Given the description of an element on the screen output the (x, y) to click on. 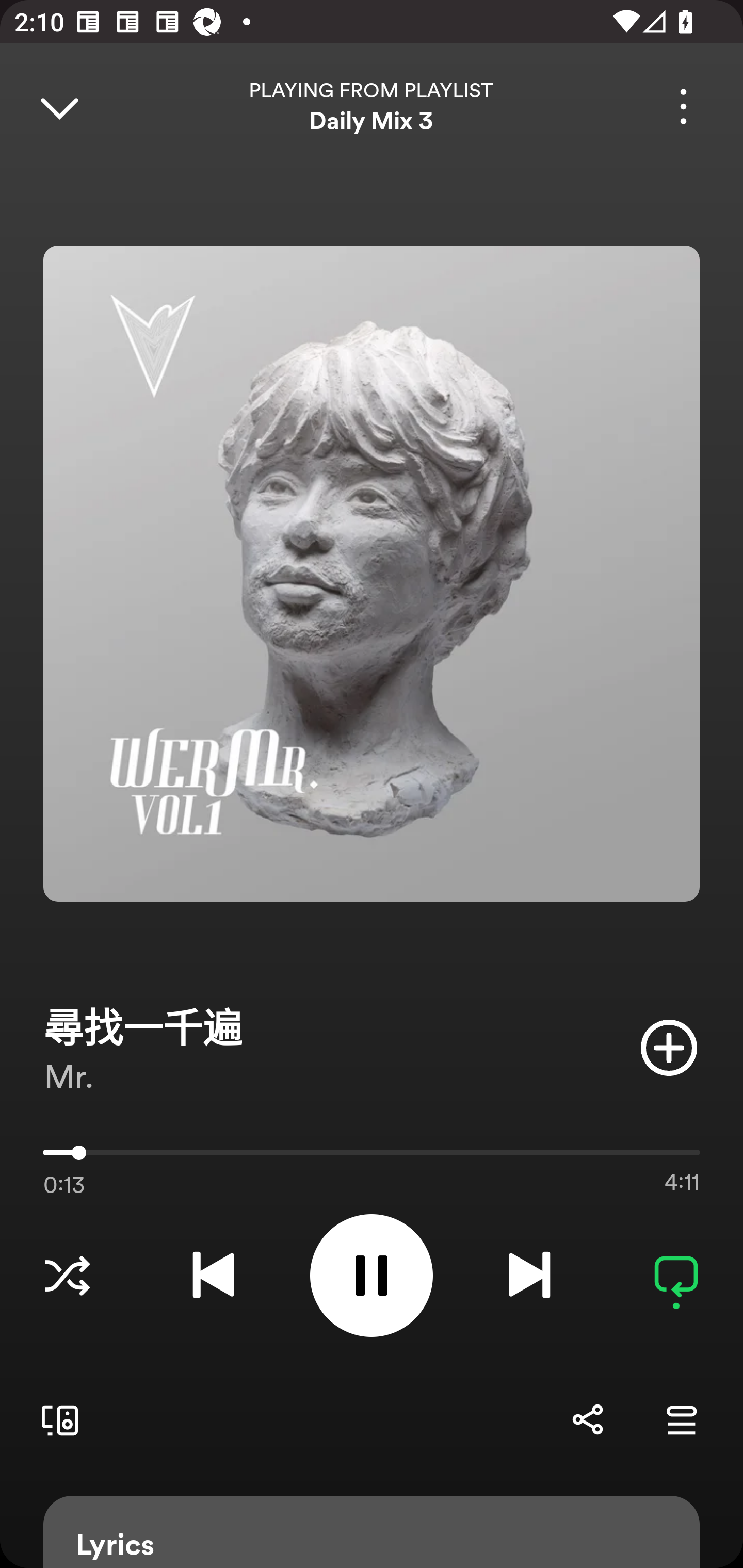
Close (59, 106)
More options for song 尋找一千遍 (683, 106)
PLAYING FROM PLAYLIST Daily Mix 3 (371, 106)
Add item (669, 1046)
0:13 4:11 13517.0 Use volume keys to adjust (371, 1157)
Pause (371, 1275)
Previous (212, 1275)
Next (529, 1275)
Choose a Listening Mode (66, 1275)
Repeat (676, 1275)
Share (587, 1419)
Go to Queue (681, 1419)
Connect to a device. Opens the devices menu (55, 1419)
Lyrics (371, 1531)
